Given the description of an element on the screen output the (x, y) to click on. 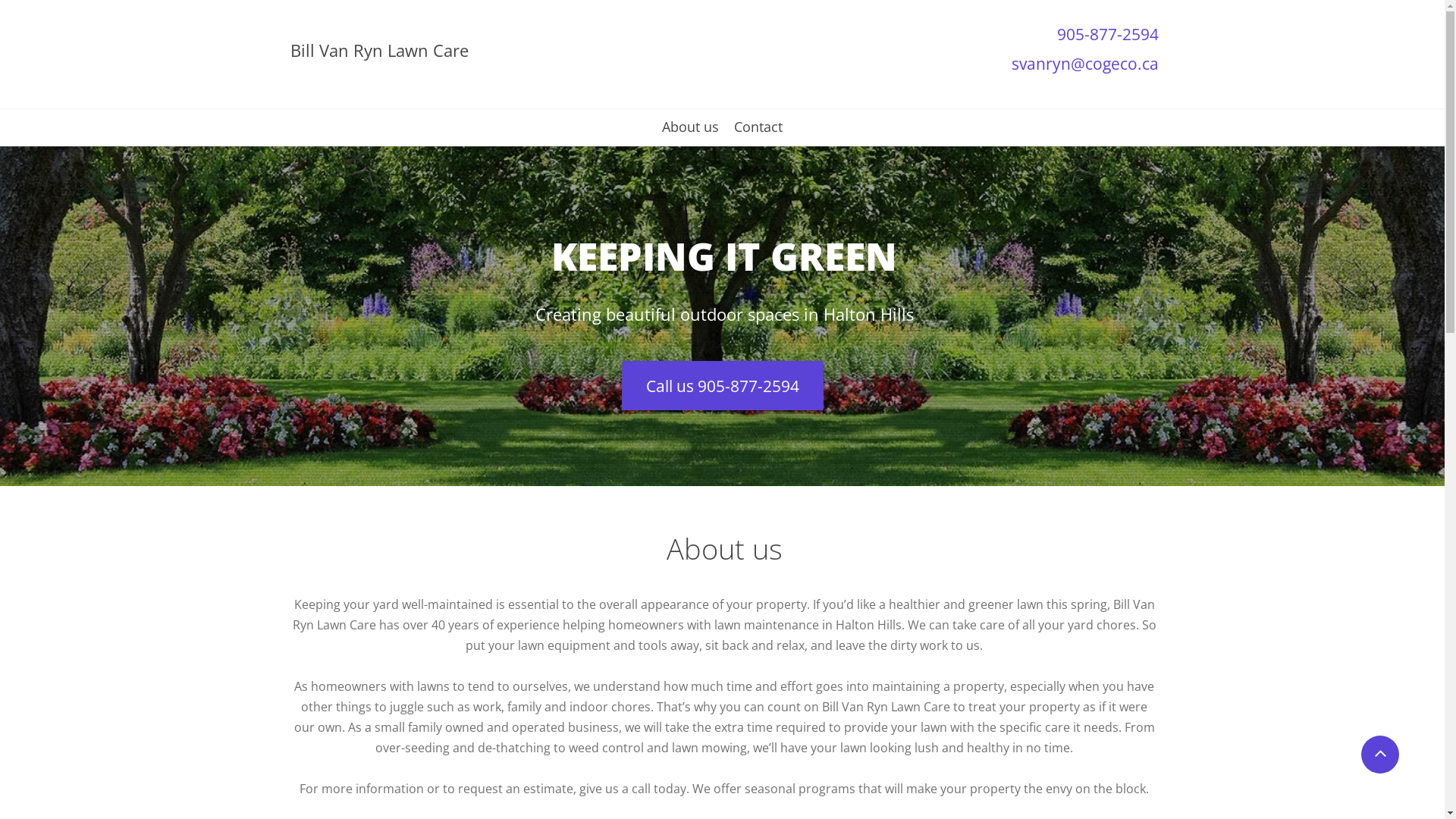
Contact Element type: text (758, 132)
905-877-2594 Element type: text (1107, 37)
Bill Van Ryn Lawn Care Element type: text (378, 54)
Call us 905-877-2594 Element type: text (722, 385)
About us Element type: text (689, 132)
svanryn@cogeco.ca Element type: text (1084, 66)
